Given the description of an element on the screen output the (x, y) to click on. 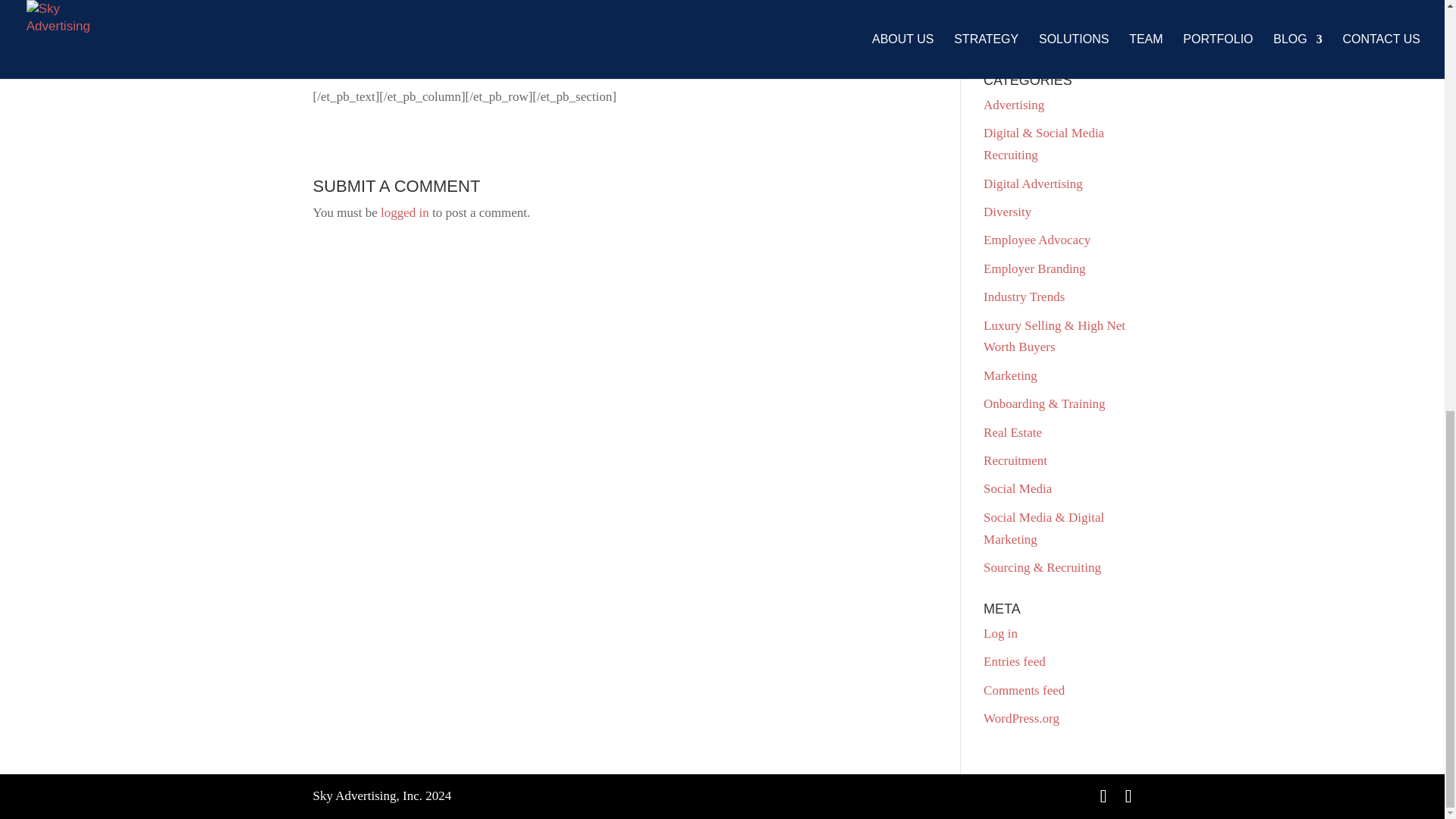
Digital Advertising (1033, 183)
Employer Branding (1035, 268)
Diversity (1007, 211)
May 2016 (1009, 38)
logged in (404, 212)
Employee Advocacy (1037, 239)
June 2016 (1009, 11)
Advertising (1013, 104)
